Given the description of an element on the screen output the (x, y) to click on. 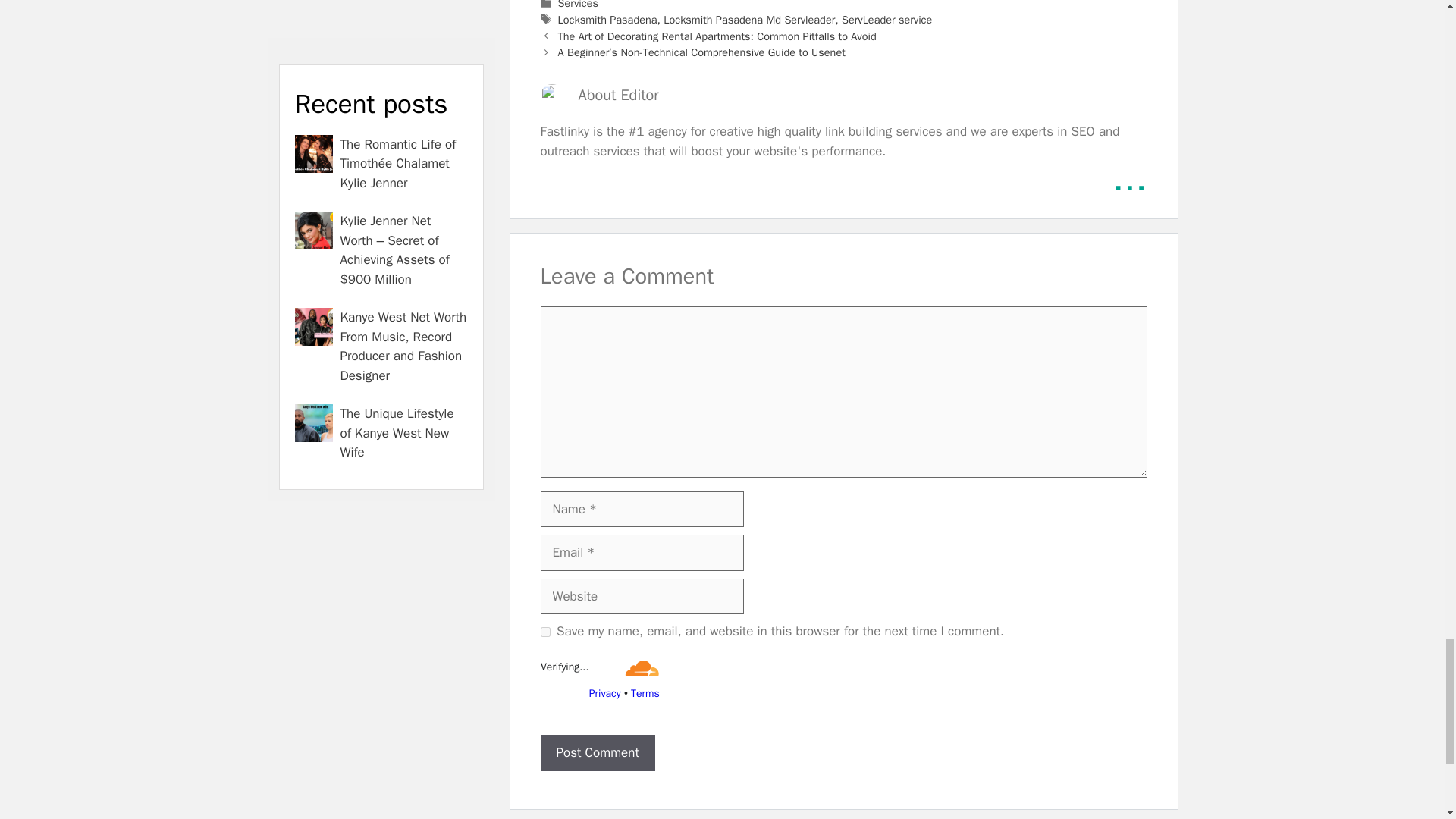
Post Comment (596, 752)
Read more (1129, 178)
yes (545, 632)
